Given the description of an element on the screen output the (x, y) to click on. 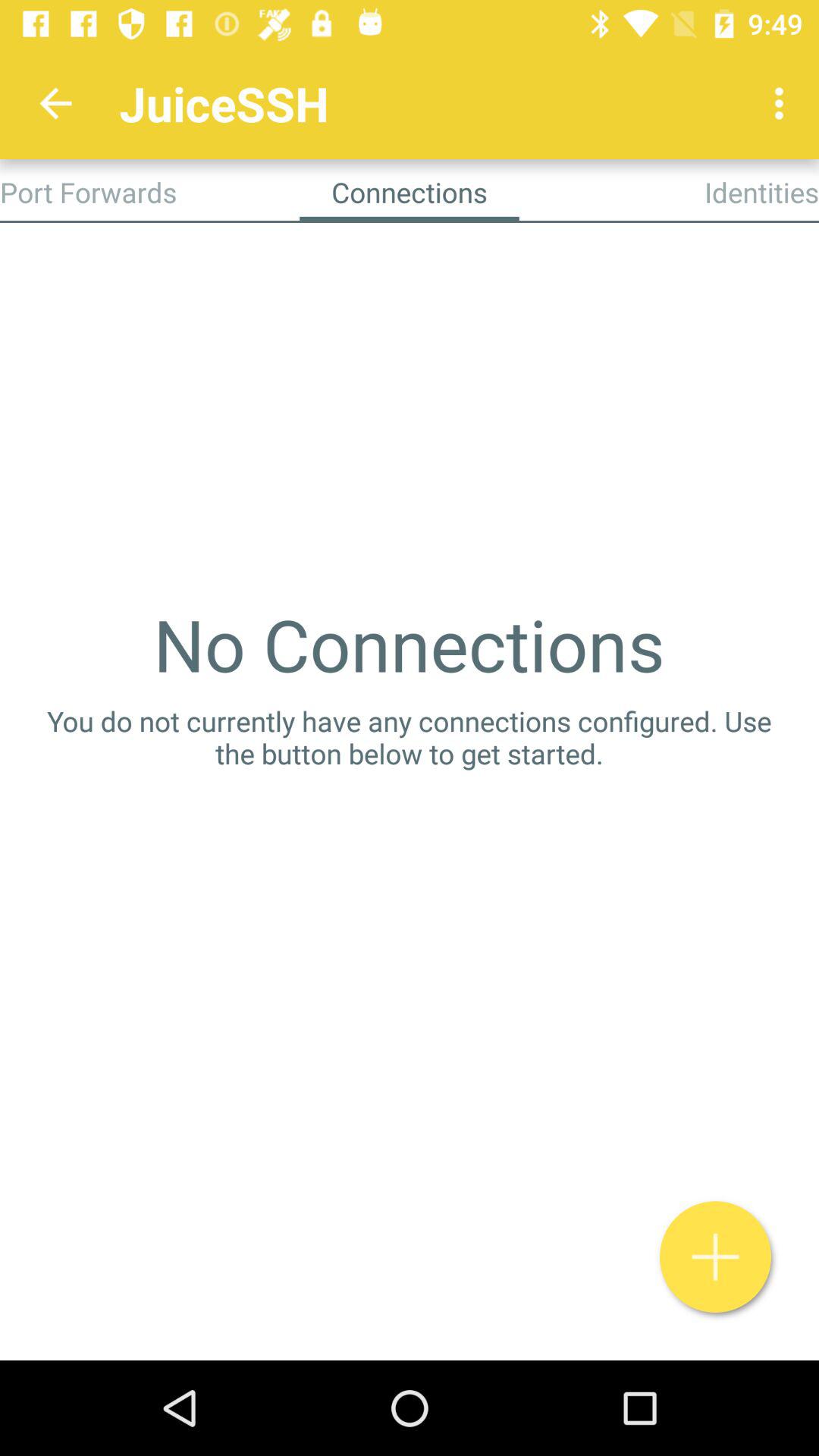
swipe to the you do not icon (409, 737)
